Given the description of an element on the screen output the (x, y) to click on. 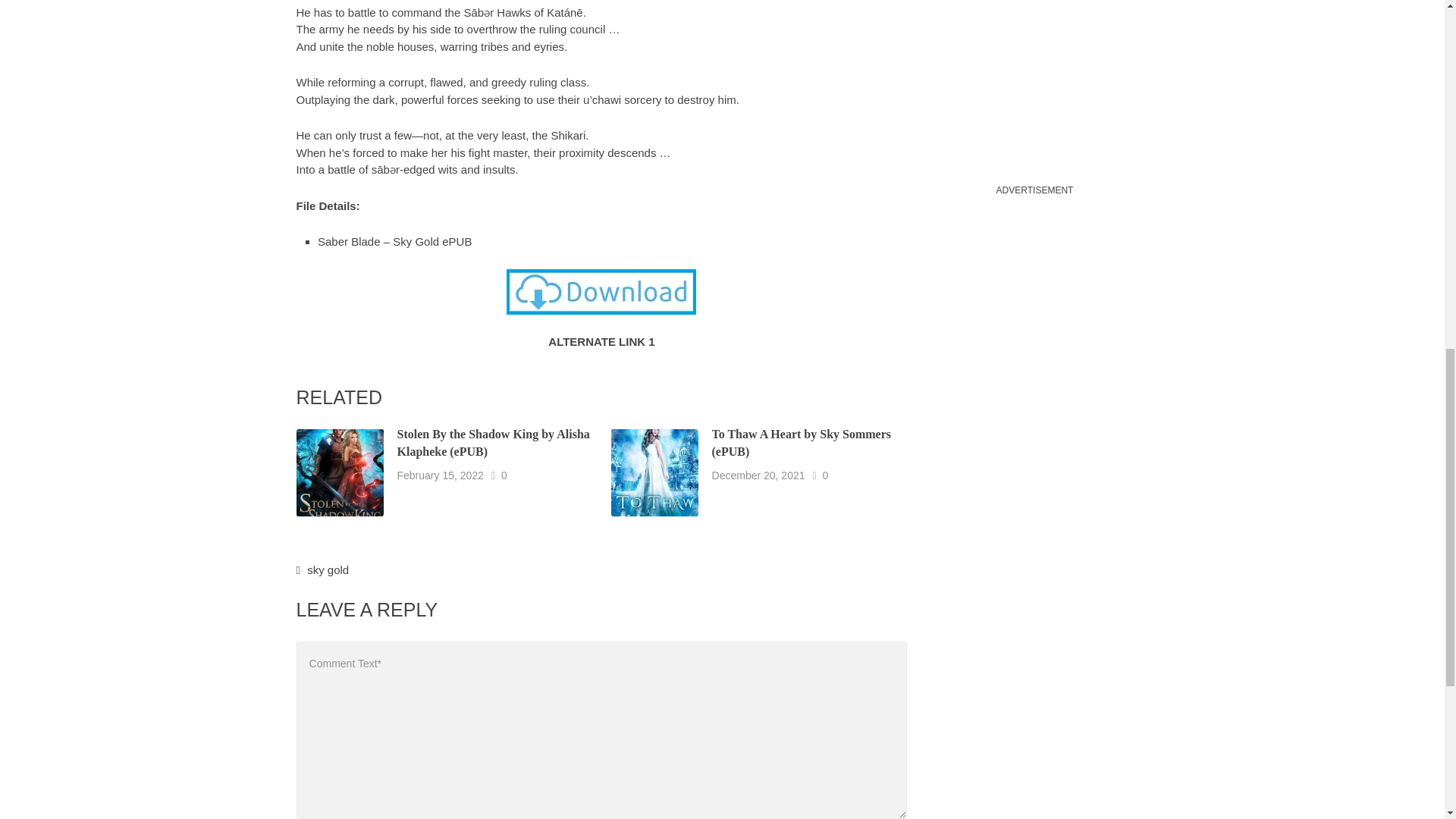
ALTERNATE LINK 1 (600, 341)
0 (825, 475)
0 (504, 475)
sky gold (328, 569)
